Given the description of an element on the screen output the (x, y) to click on. 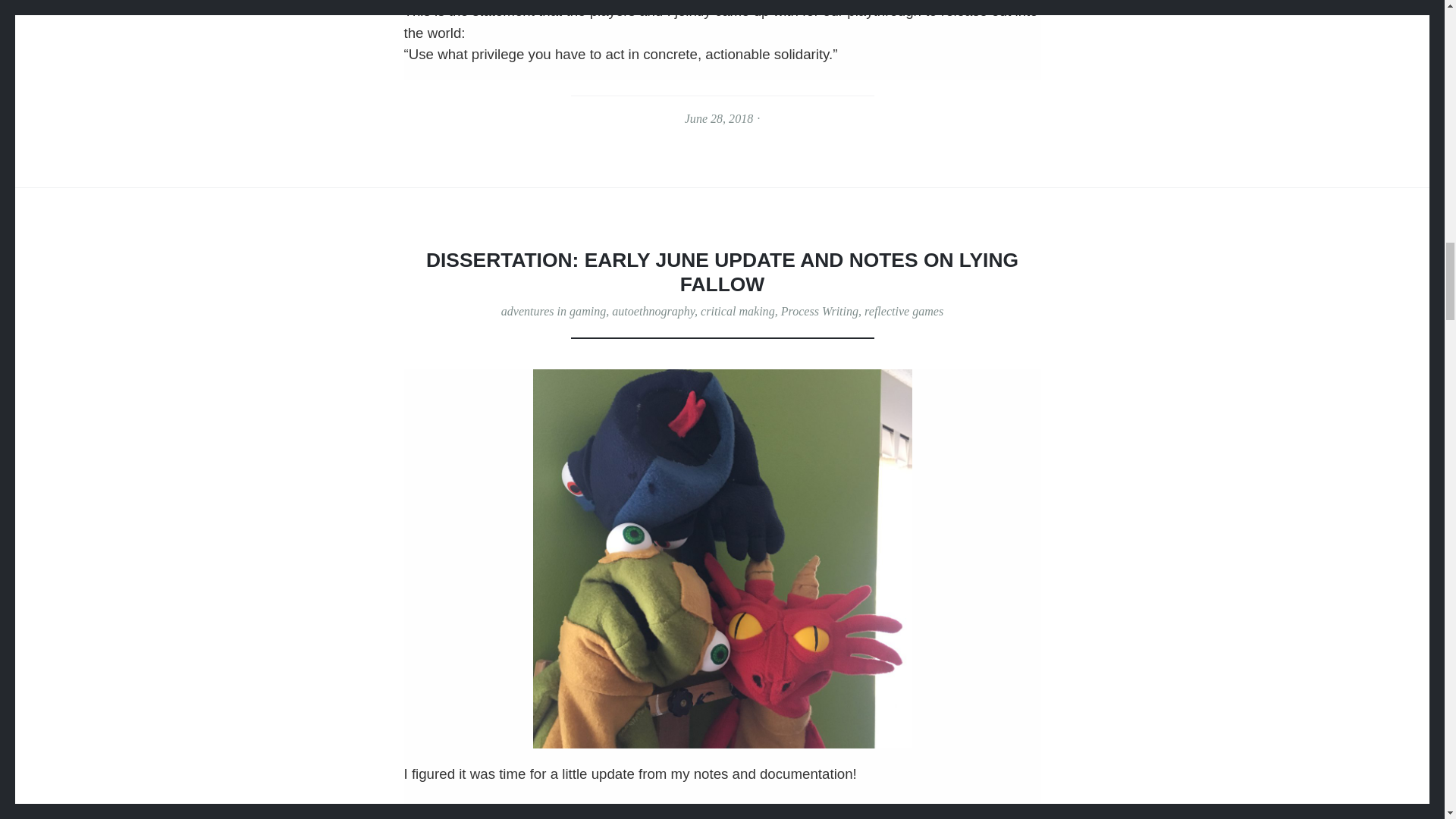
adventures in gaming (552, 310)
critical making (737, 310)
DISSERTATION: EARLY JUNE UPDATE AND NOTES ON LYING FALLOW (721, 271)
reflective games (903, 310)
Process Writing (819, 310)
June 28, 2018 (718, 118)
autoethnography (652, 310)
